Given the description of an element on the screen output the (x, y) to click on. 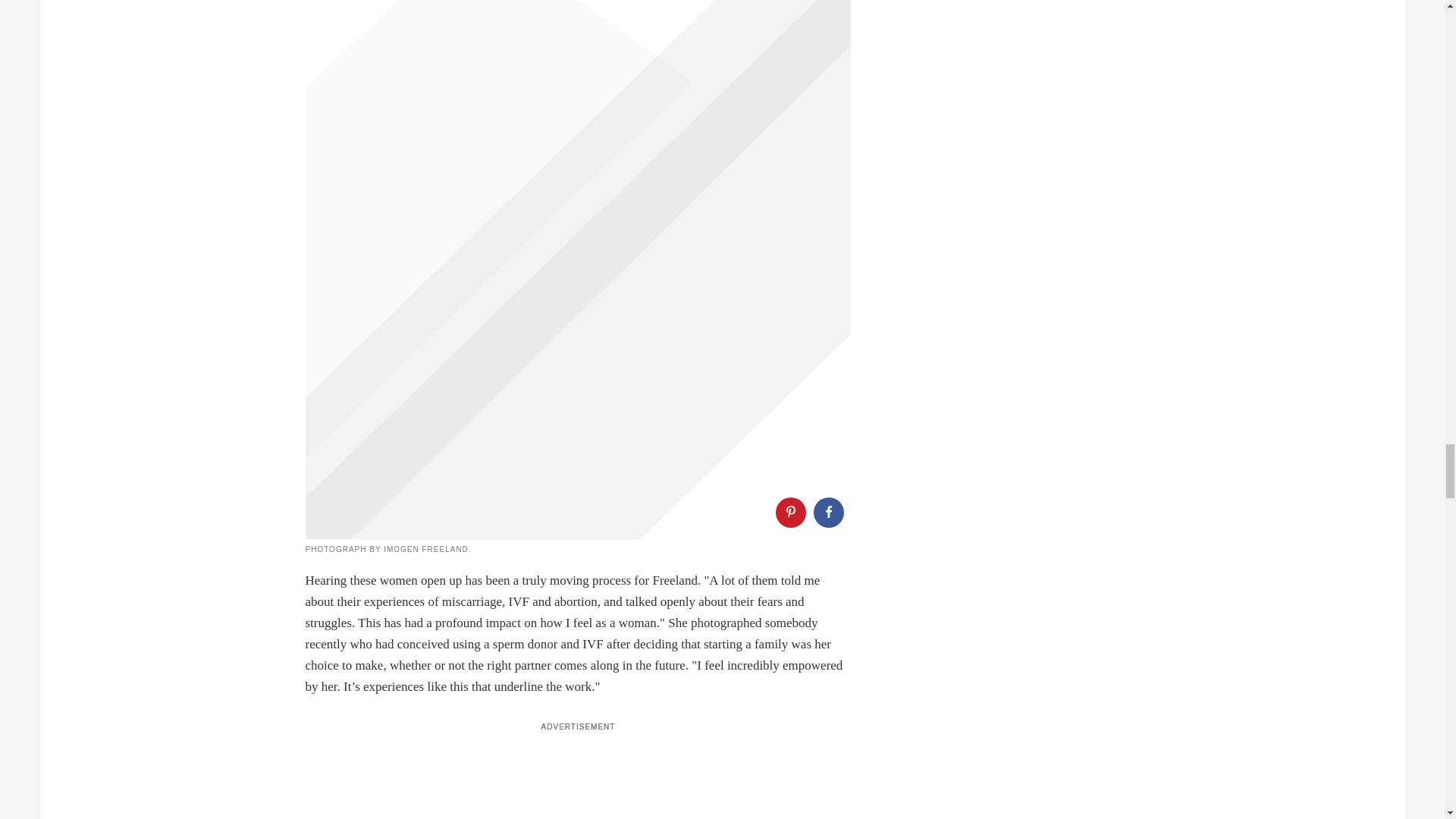
Share on Pinterest (789, 512)
